Given the description of an element on the screen output the (x, y) to click on. 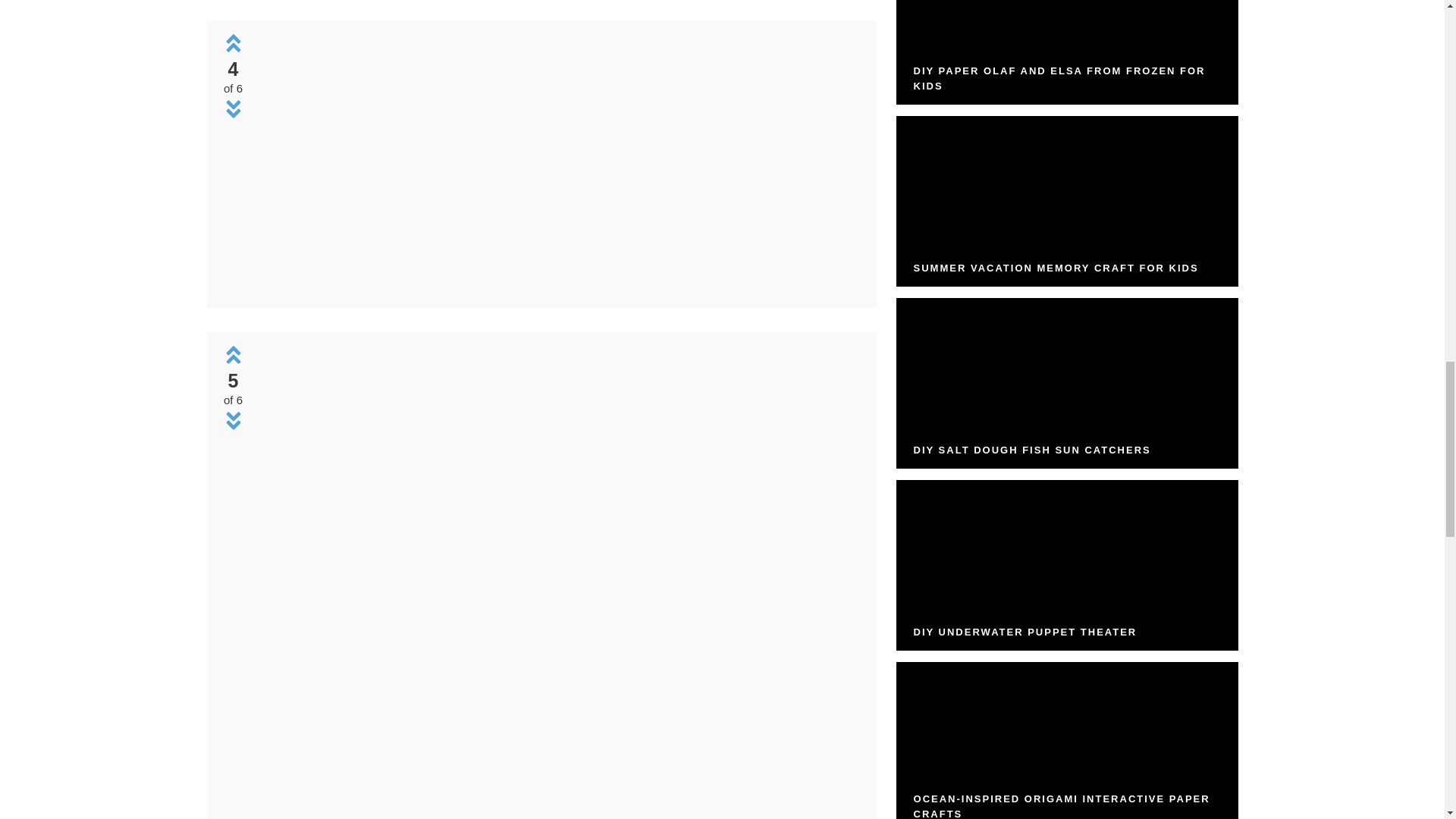
Diy Gingham Stars For Christmas Decor (558, 161)
Diy Gingham Stars For Christmas Decor (558, 286)
